Given the description of an element on the screen output the (x, y) to click on. 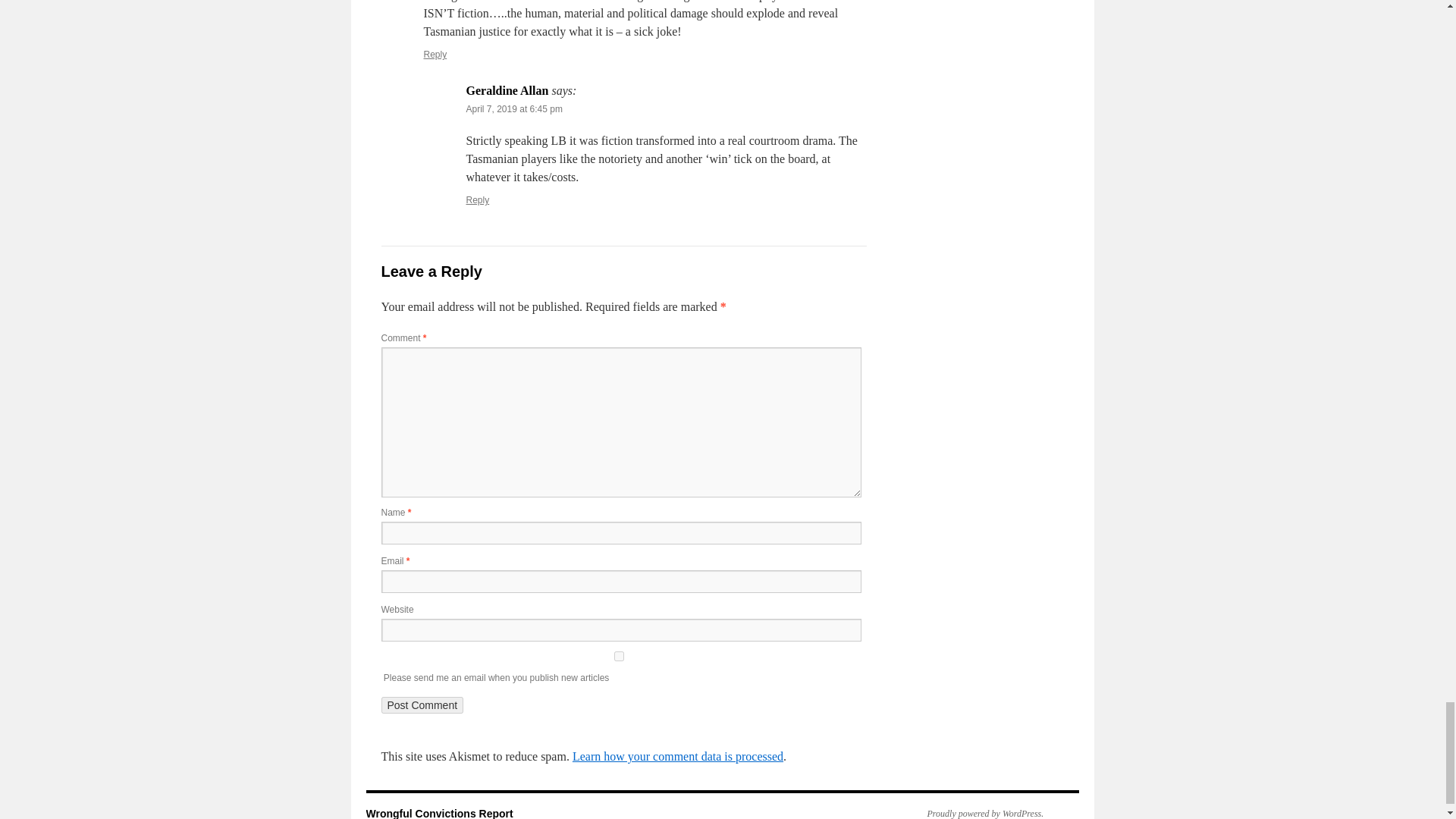
Post Comment (421, 704)
1 (618, 655)
